Given the description of an element on the screen output the (x, y) to click on. 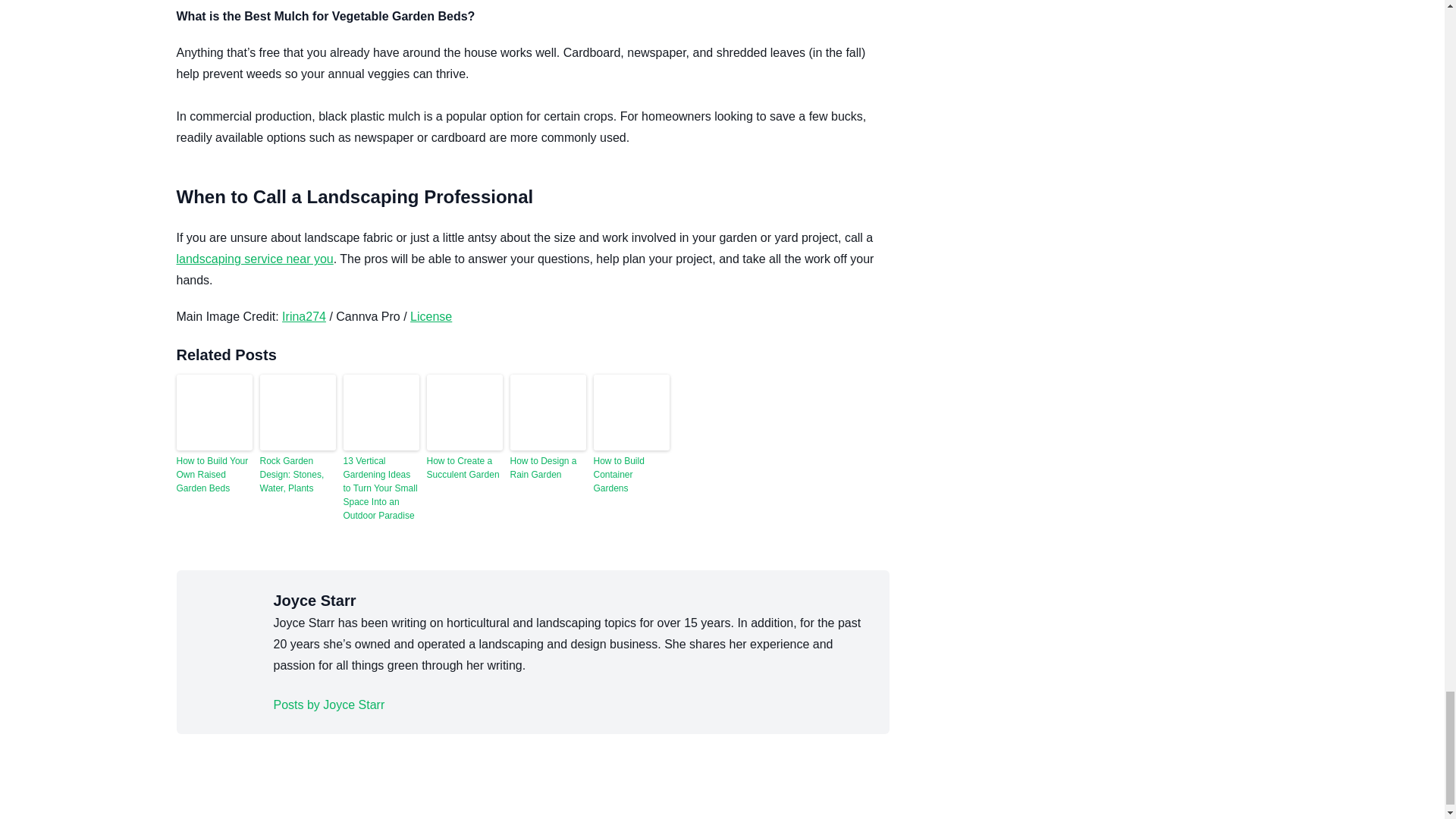
Joyce Starr (328, 704)
